Given the description of an element on the screen output the (x, y) to click on. 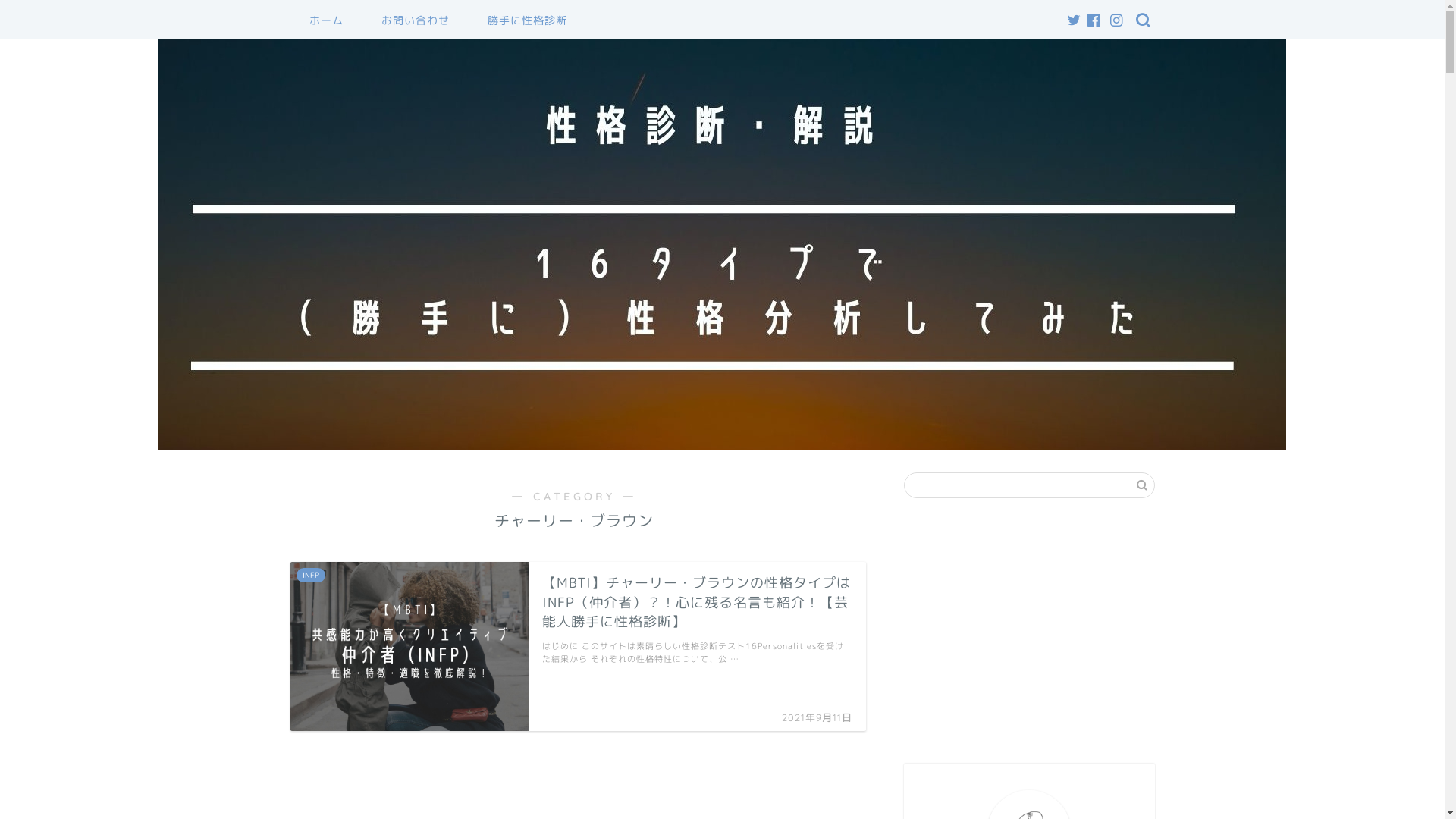
Advertisement Element type: hover (1028, 630)
